Given the description of an element on the screen output the (x, y) to click on. 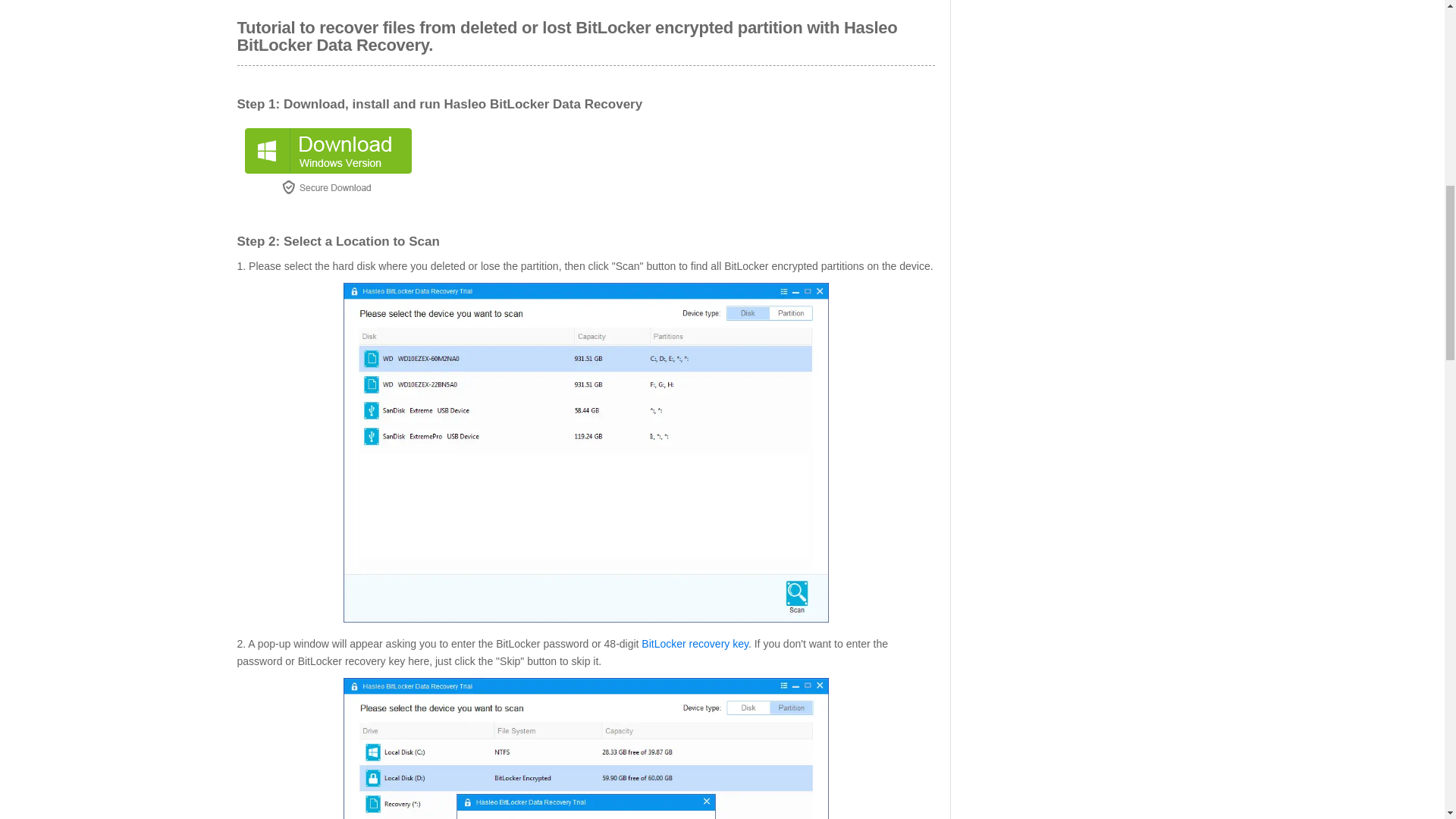
BitLocker recovery key (695, 644)
